Given the description of an element on the screen output the (x, y) to click on. 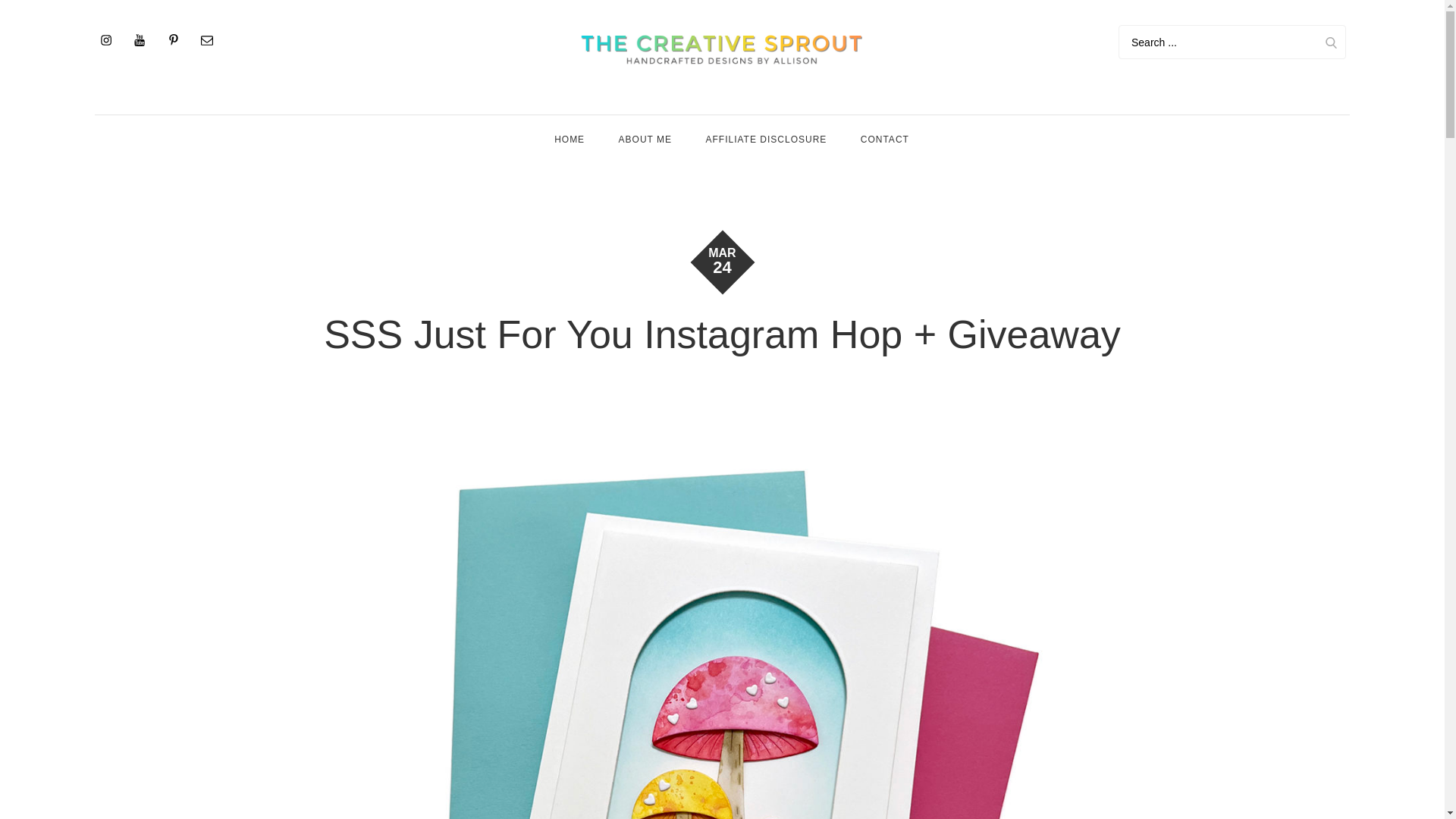
AFFILIATE DISCLOSURE (765, 139)
Pinterest (173, 39)
CONTACT (884, 139)
Search for: (1231, 41)
HOME (568, 139)
Email (207, 39)
Instagram (105, 39)
YouTube (138, 39)
ABOUT ME (645, 139)
Search (1330, 41)
